Given the description of an element on the screen output the (x, y) to click on. 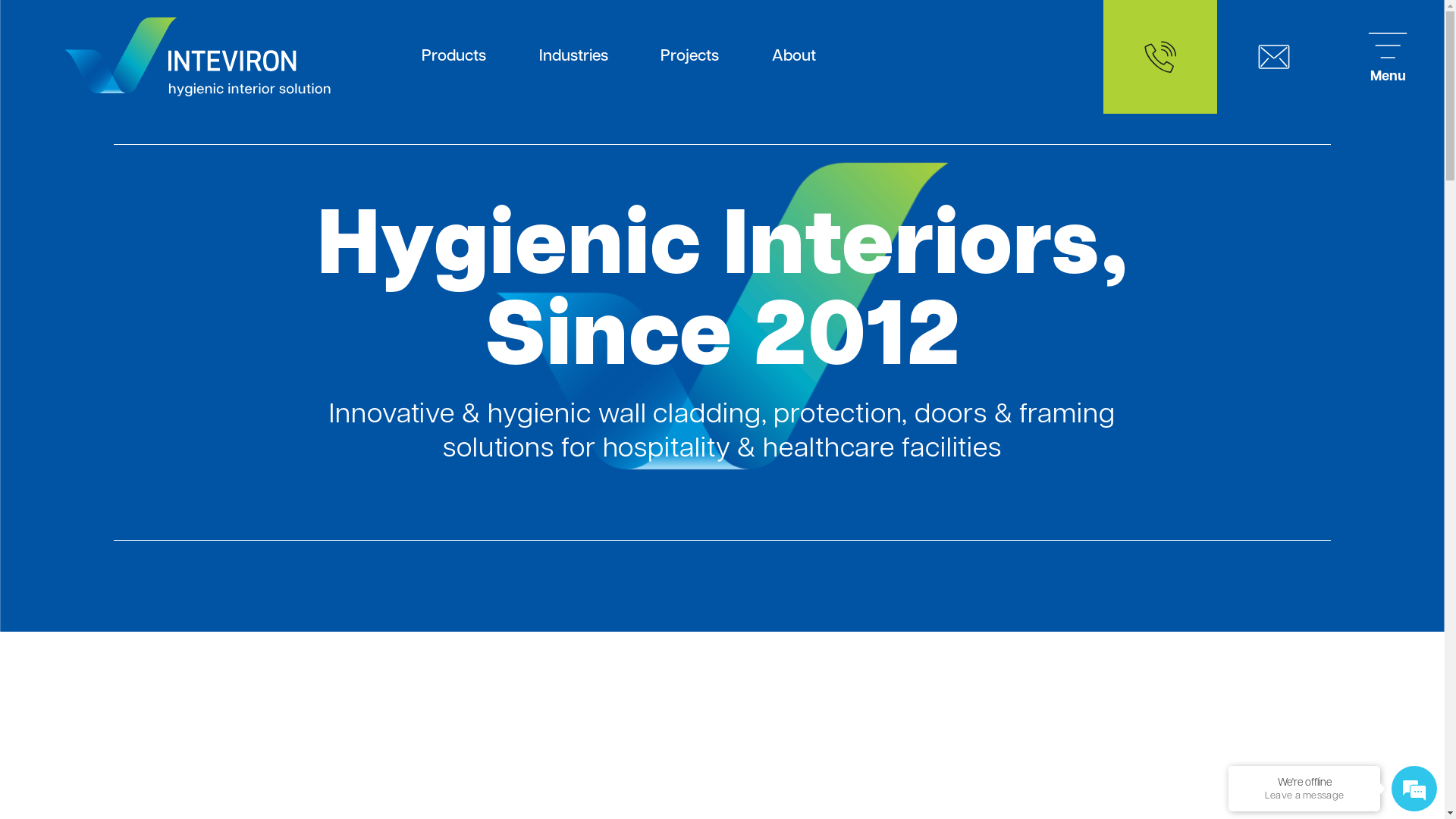
Industries Element type: text (573, 56)
Projects Element type: text (689, 56)
Inteviron Element type: hover (197, 56)
Contact Element type: hover (1273, 56)
Menu Element type: text (1387, 56)
Products Element type: text (453, 56)
About Element type: text (793, 56)
Phone Element type: hover (1160, 56)
